Given the description of an element on the screen output the (x, y) to click on. 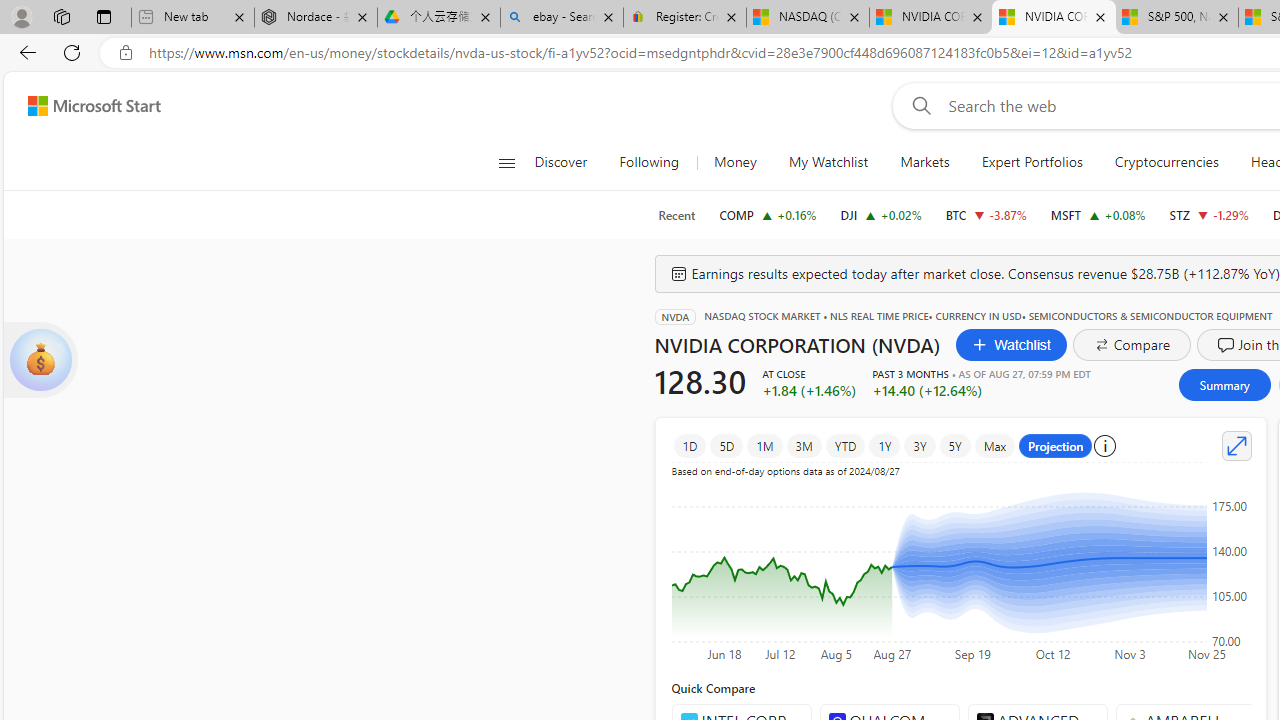
Compare (1131, 344)
Max (995, 445)
New tab - Sleeping (192, 17)
Following (648, 162)
1D (689, 445)
Markets (925, 162)
STZ CONSTELLATION BRANDS, INC. decrease 239.98 -3.13 -1.29% (1208, 214)
1M (765, 445)
My Watchlist (827, 162)
Cryptocurrencies (1166, 162)
Microsoft Start (94, 105)
